Given the description of an element on the screen output the (x, y) to click on. 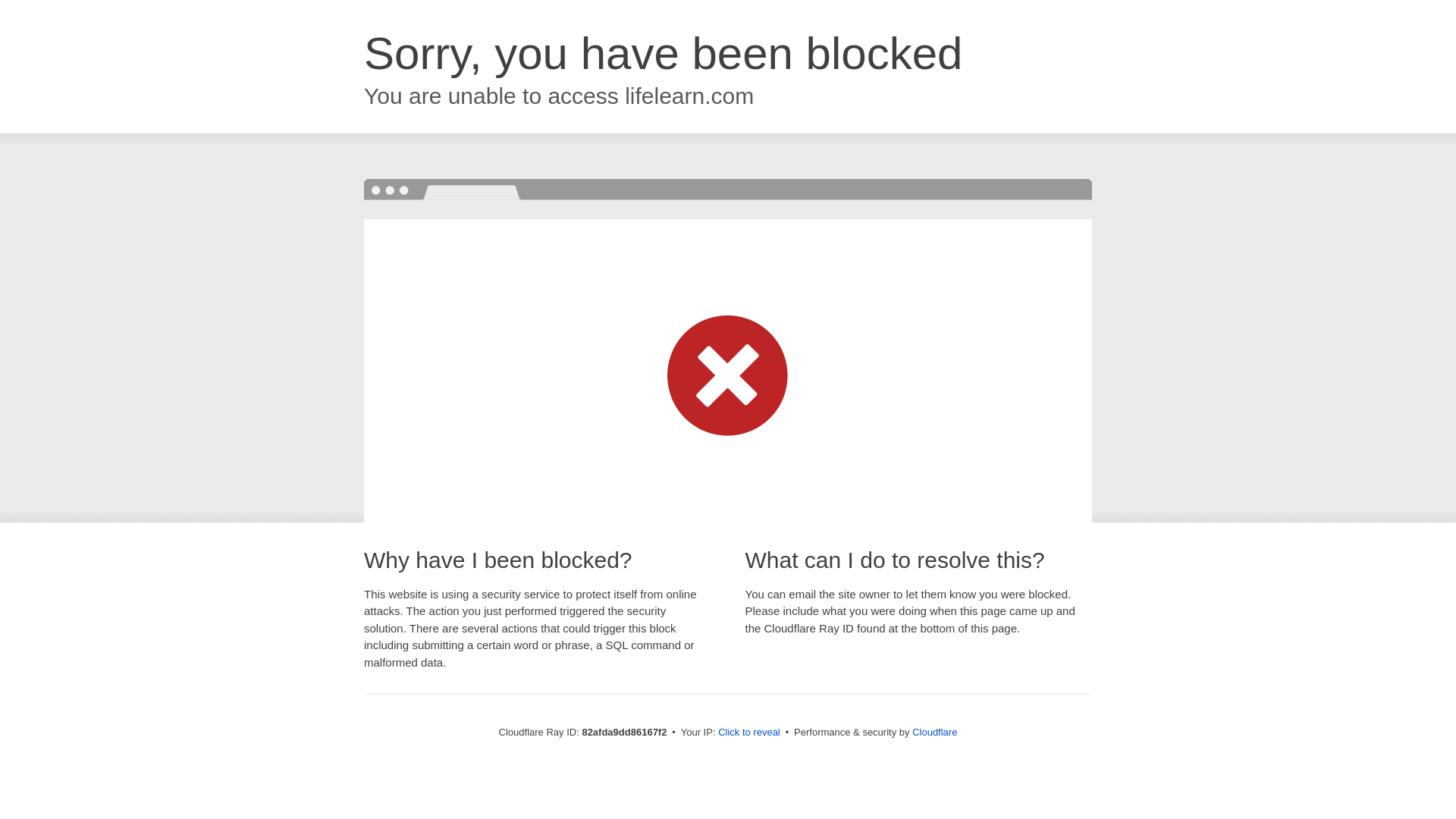
Click to reveal Element type: text (749, 732)
Cloudflare Element type: text (934, 731)
